Given the description of an element on the screen output the (x, y) to click on. 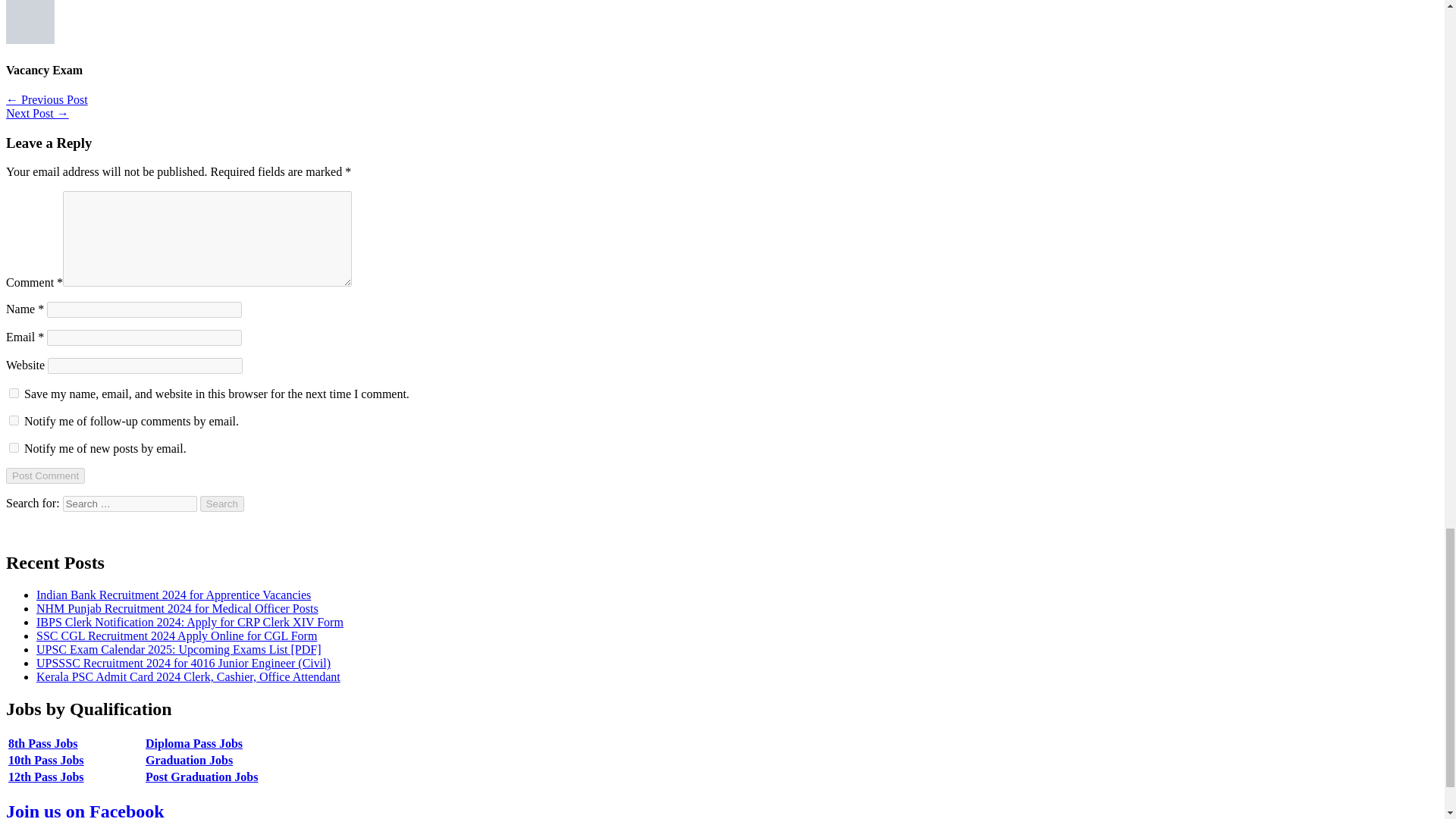
Search (222, 503)
Post Comment (44, 475)
Search (222, 503)
subscribe (13, 420)
HDFC Bank Recruitment 2021 Apply Online for Latest Bank Jobs (46, 99)
subscribe (13, 447)
Search (222, 503)
SSC CGL Recruitment 2024 Apply Online for CGL Form (176, 635)
NHM Punjab Recruitment 2024 for Medical Officer Posts (177, 608)
Indian Bank Recruitment 2024 for Apprentice Vacancies (173, 594)
Post Comment (44, 475)
IBPS Clerk Notification 2024: Apply for CRP Clerk XIV Form (189, 621)
yes (13, 393)
OPSC Recruitment 2021 for Post Graduate Teachers (36, 113)
